Given the description of an element on the screen output the (x, y) to click on. 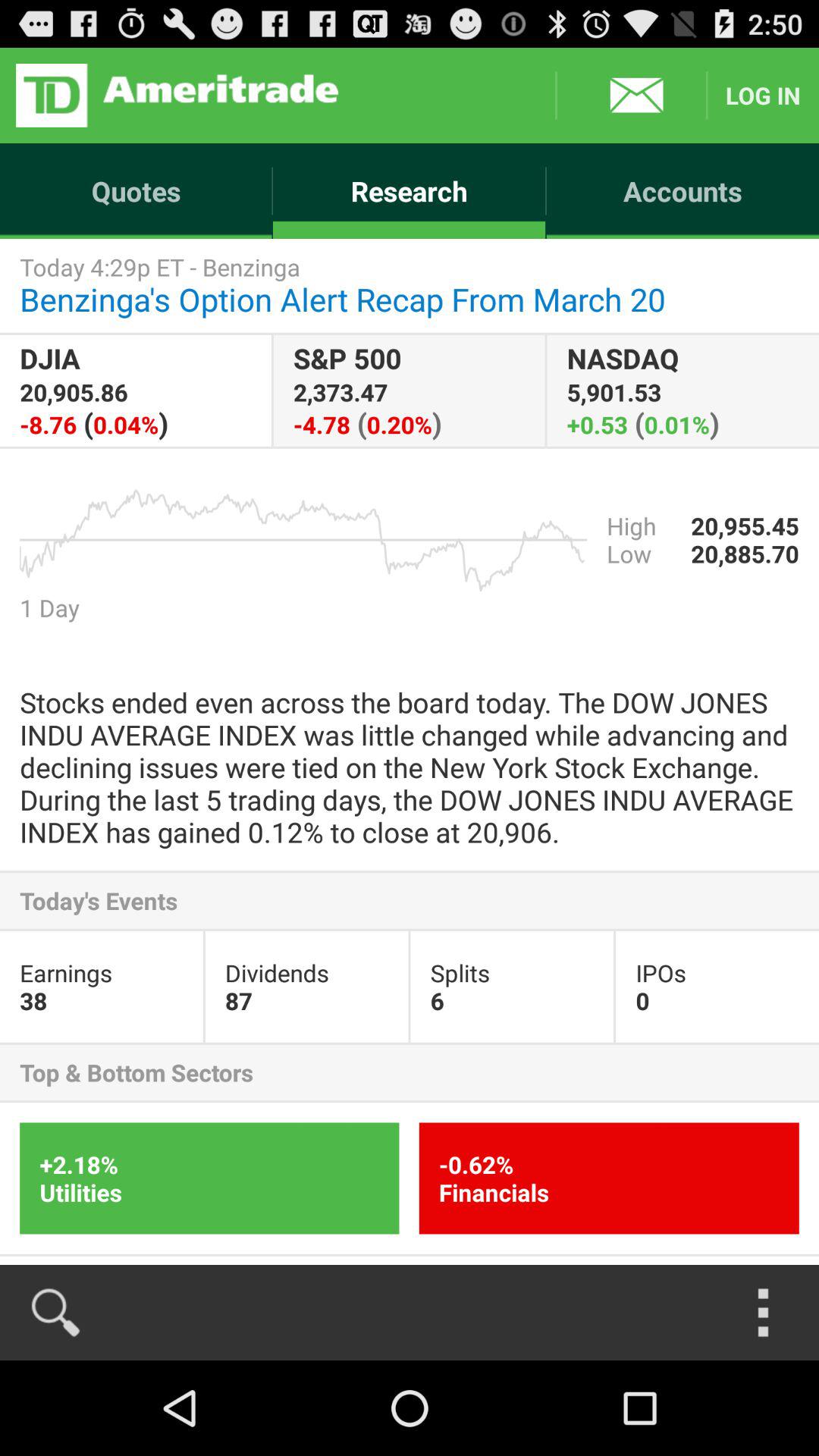
tap s p 500 (408, 390)
